Given the description of an element on the screen output the (x, y) to click on. 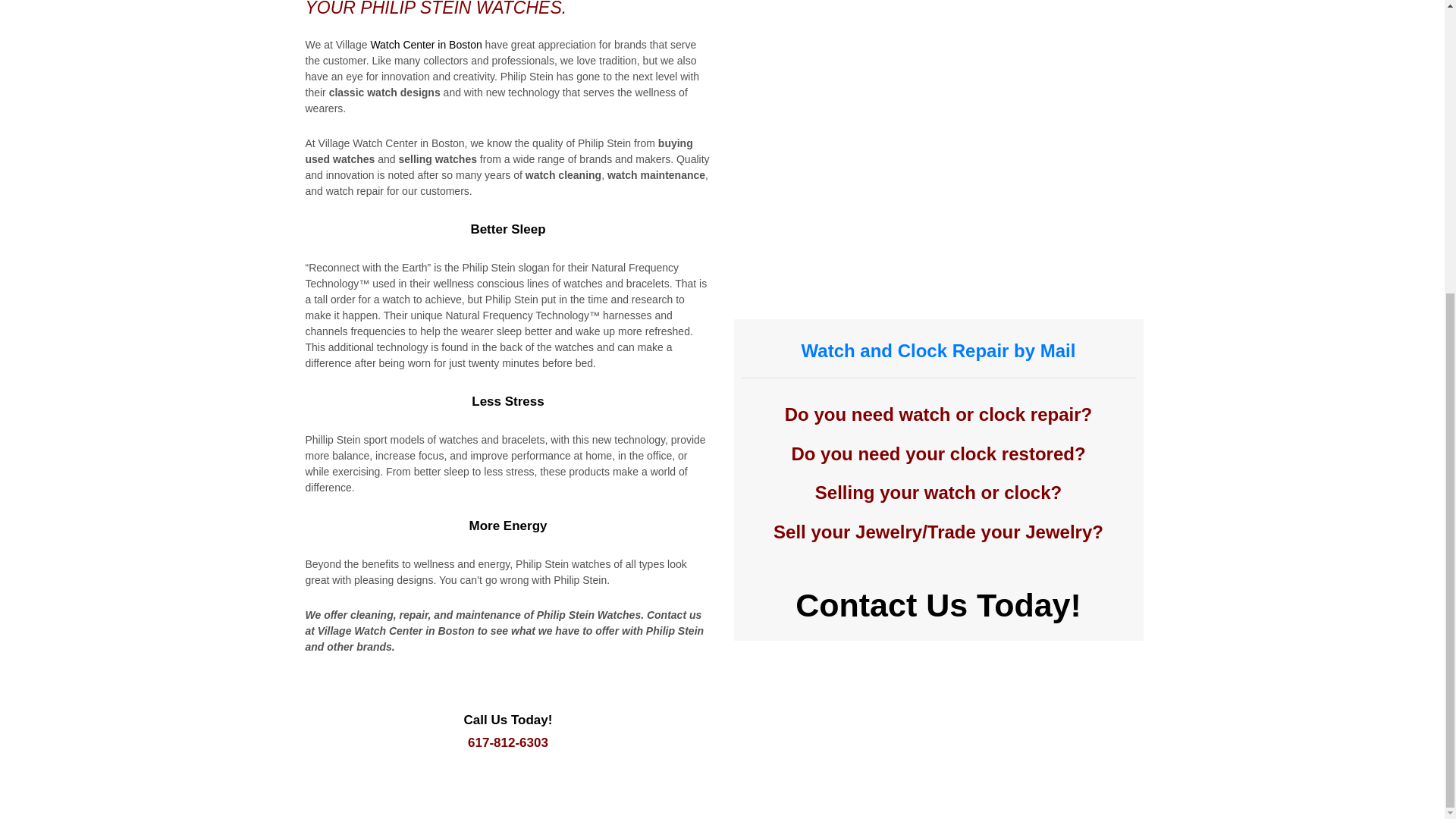
Watch Center (425, 44)
617-812-6303 (507, 742)
